Given the description of an element on the screen output the (x, y) to click on. 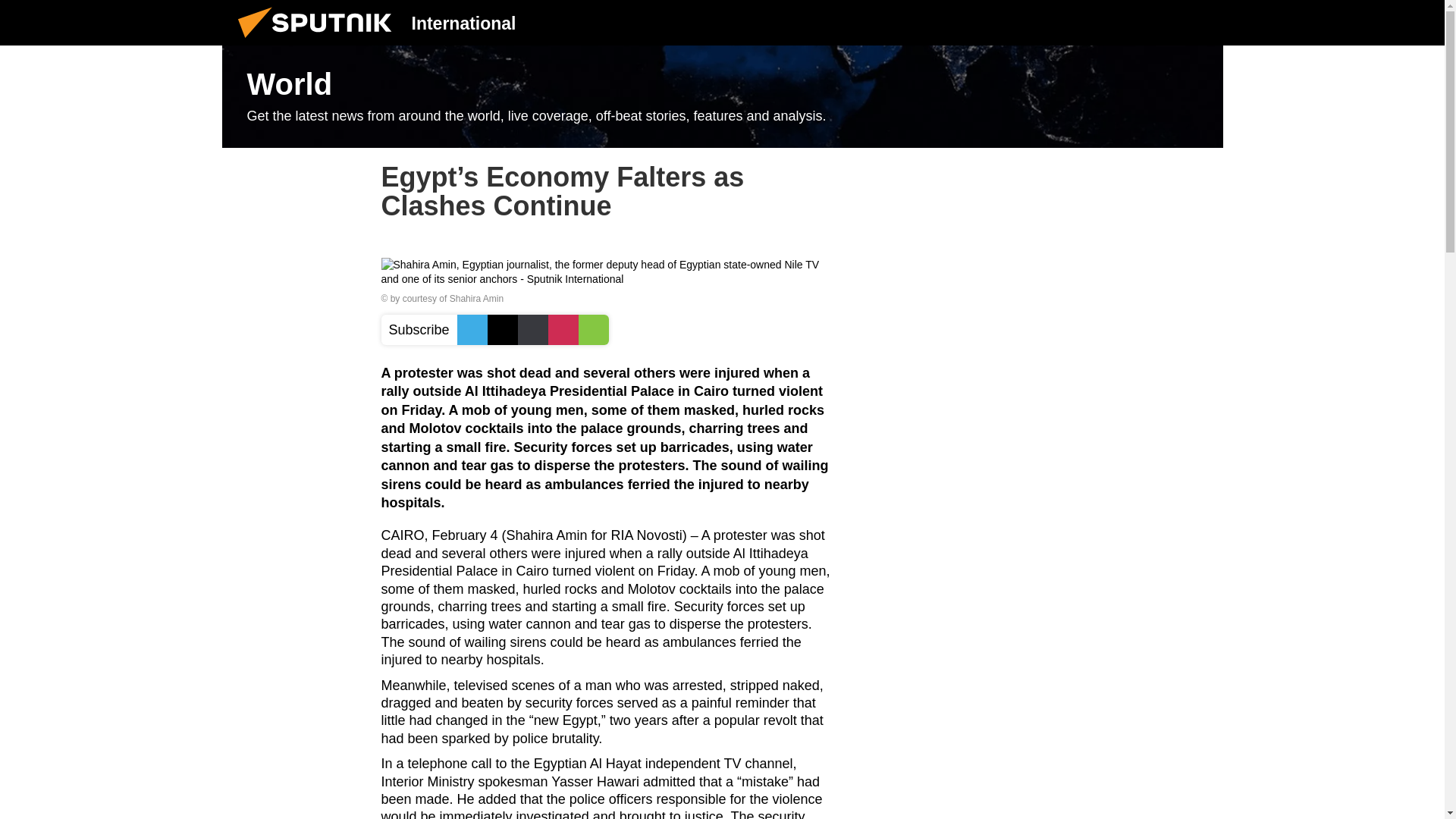
Chats (1199, 22)
World (722, 96)
Authorization (1123, 22)
Sputnik International (319, 41)
